Given the description of an element on the screen output the (x, y) to click on. 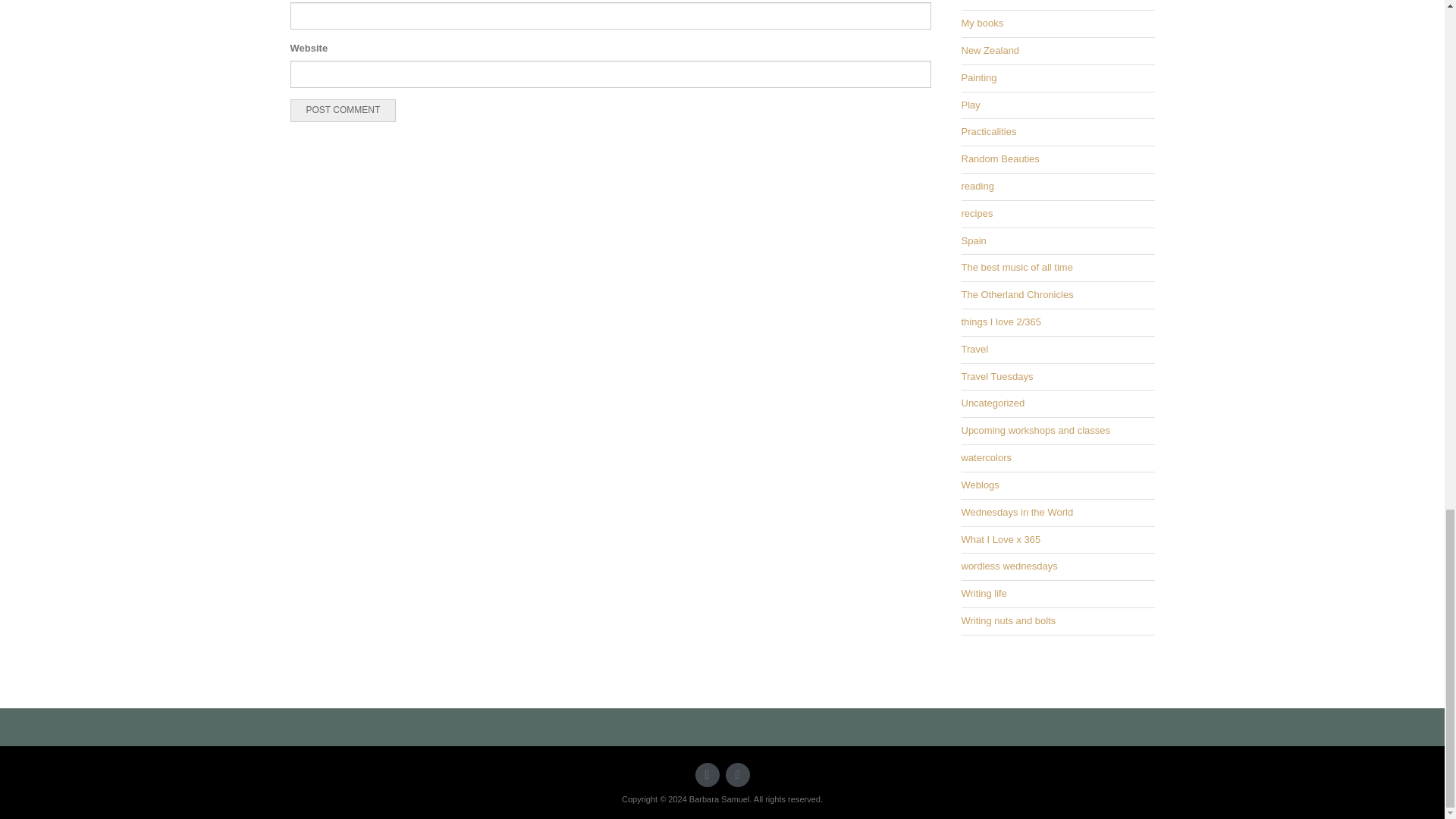
Twitter (706, 774)
Facebook (737, 774)
Post Comment (342, 110)
Post Comment (342, 110)
